Given the description of an element on the screen output the (x, y) to click on. 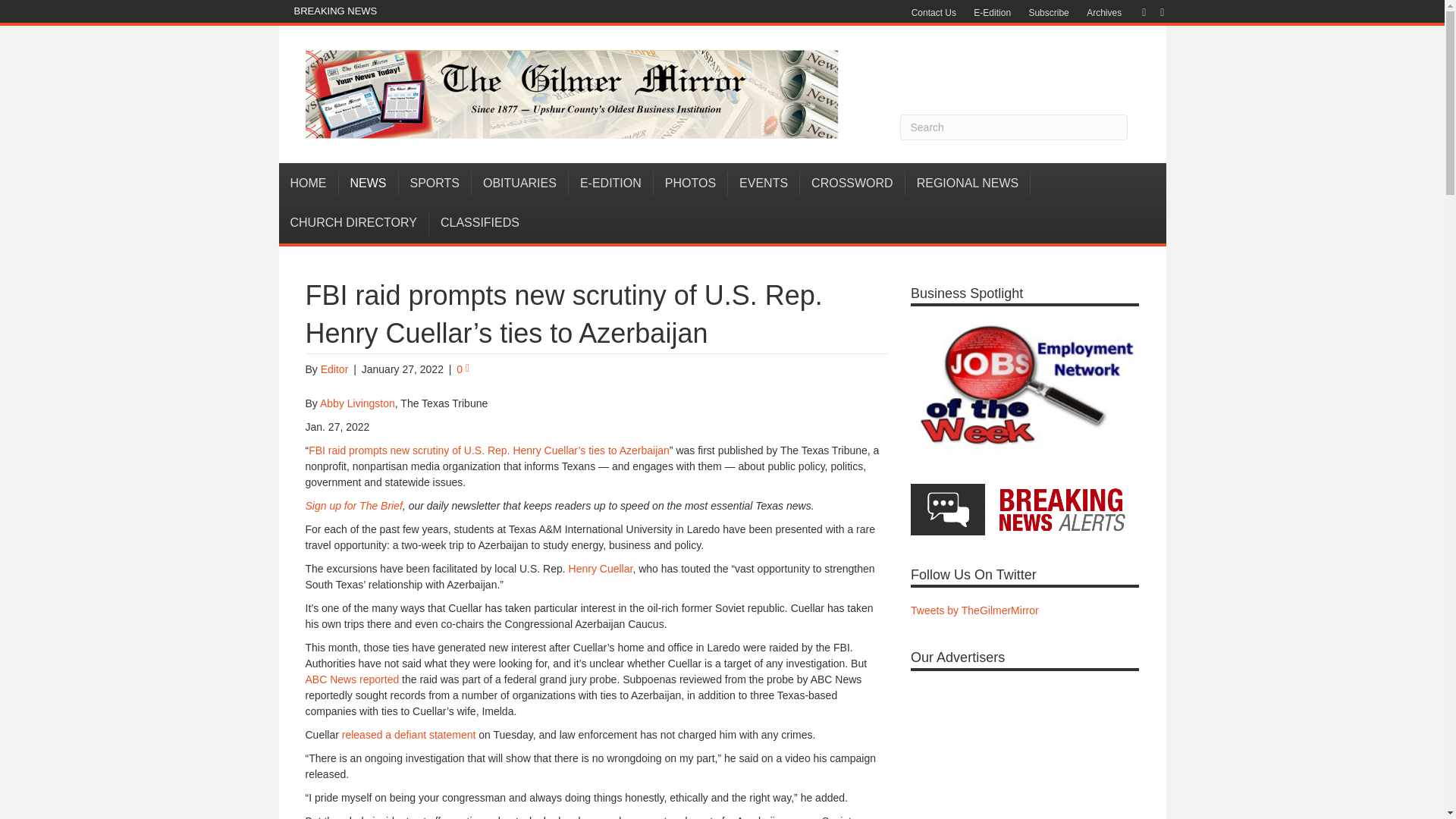
CHURCH DIRECTORY (354, 222)
CLASSIFIEDS (480, 222)
REGIONAL NEWS (967, 183)
Archives (1103, 13)
Editor (334, 369)
HOME (309, 183)
NEWS (367, 183)
Email (1154, 11)
E-EDITION (611, 183)
SPORTS (434, 183)
